Given the description of an element on the screen output the (x, y) to click on. 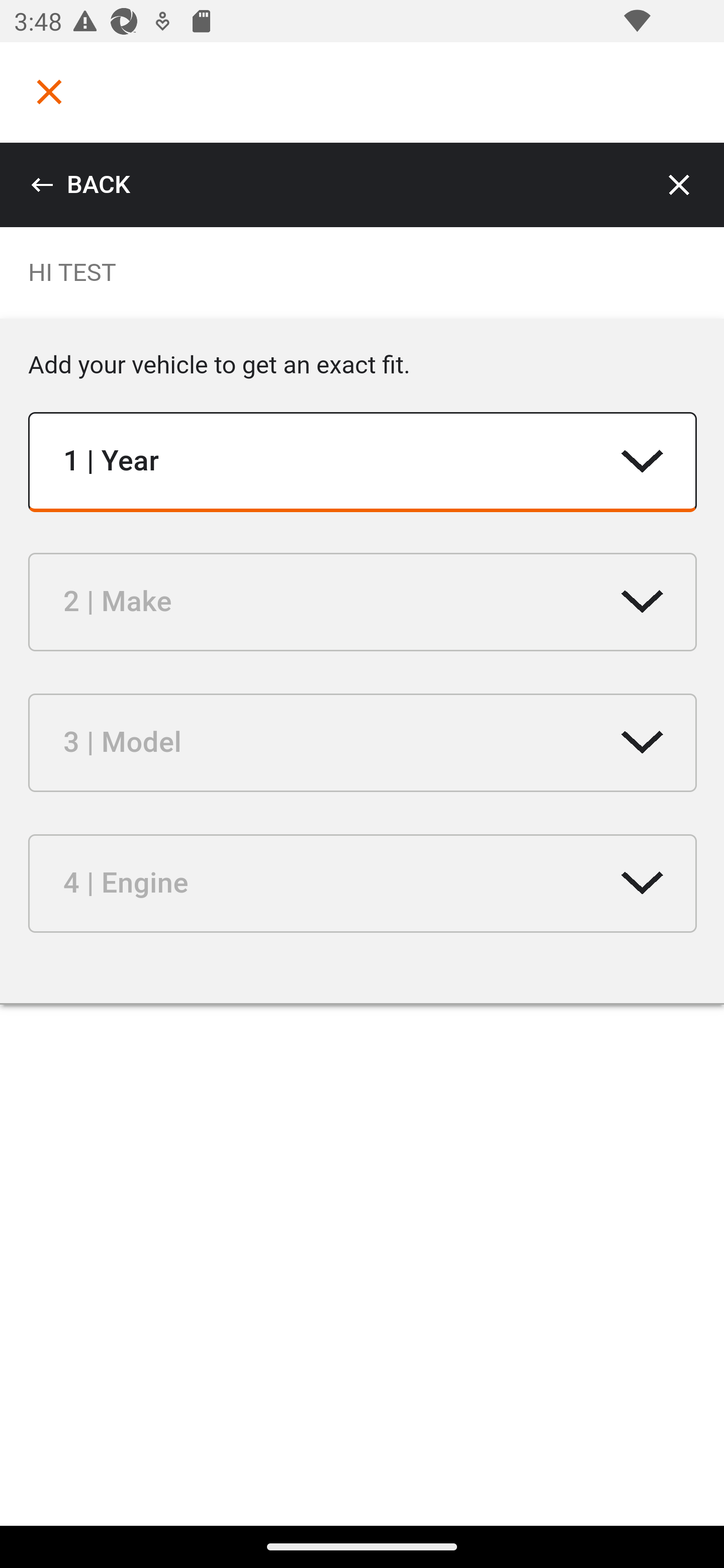
 (49, 91)
